Given the description of an element on the screen output the (x, y) to click on. 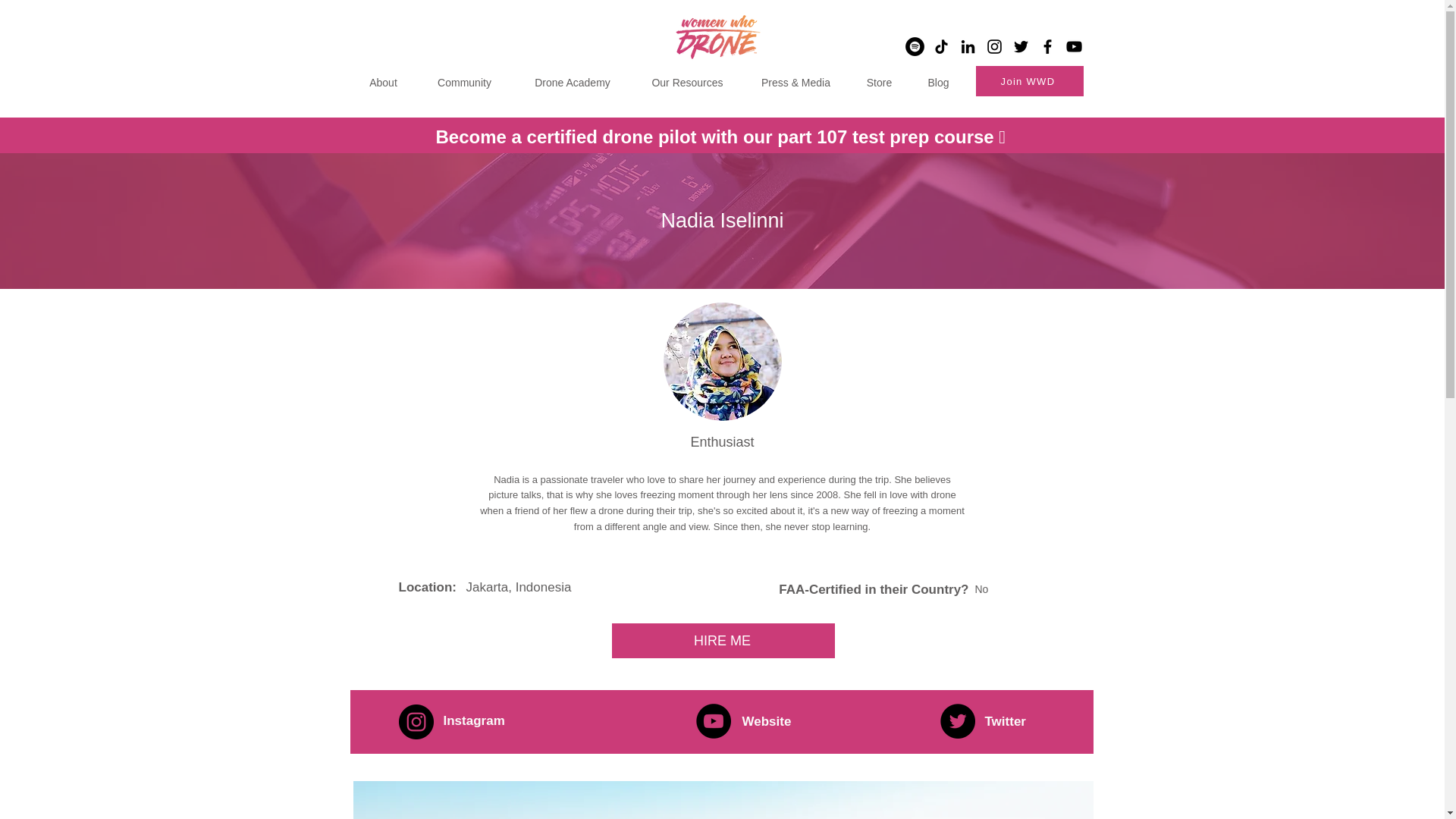
About (382, 75)
Our Resources (686, 75)
Community (463, 75)
Drone Academy (571, 75)
Store (879, 75)
Blog (939, 75)
Join WWD (1029, 81)
